Given the description of an element on the screen output the (x, y) to click on. 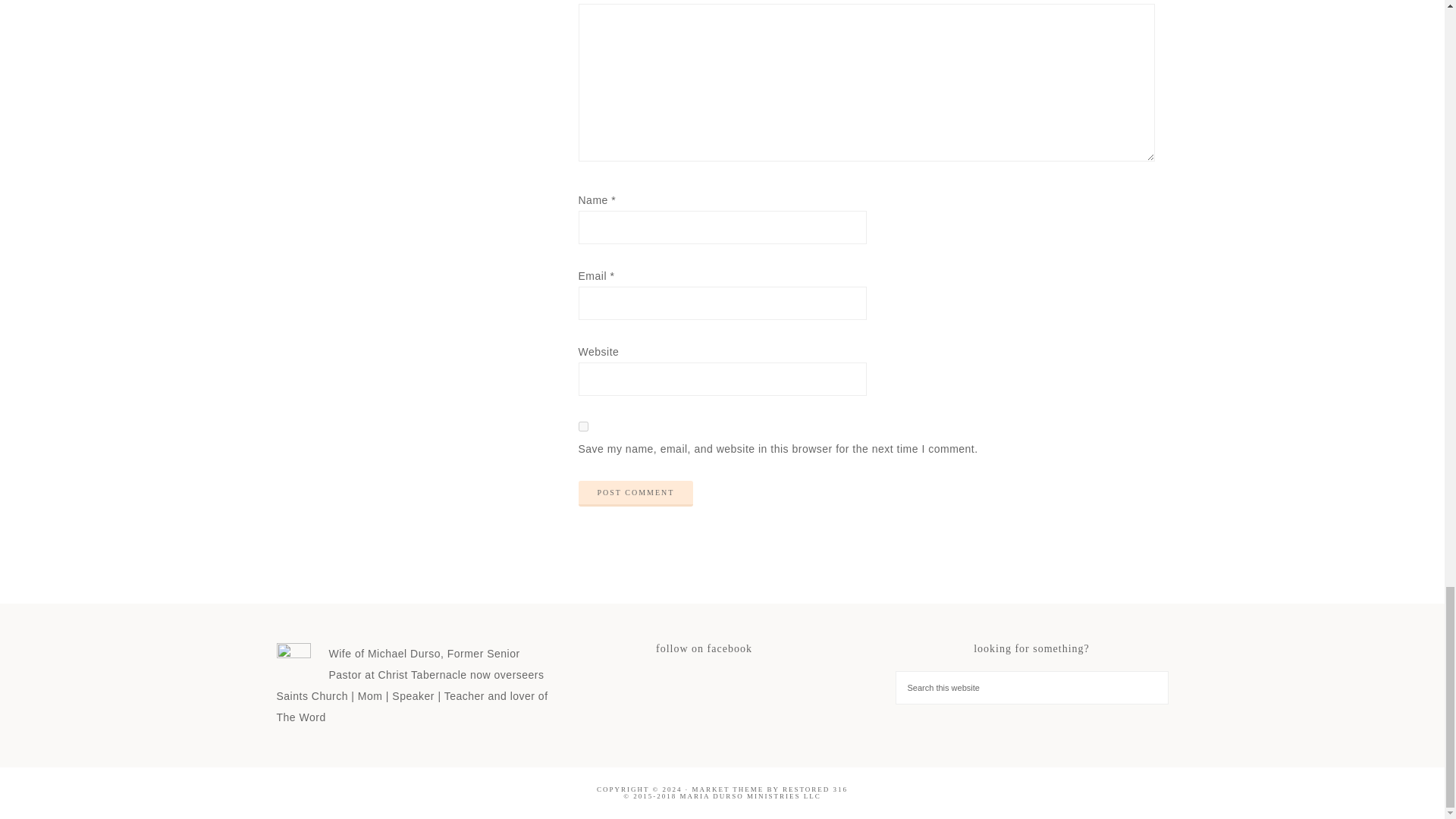
Post Comment (635, 493)
yes (583, 426)
Post Comment (635, 493)
